Given the description of an element on the screen output the (x, y) to click on. 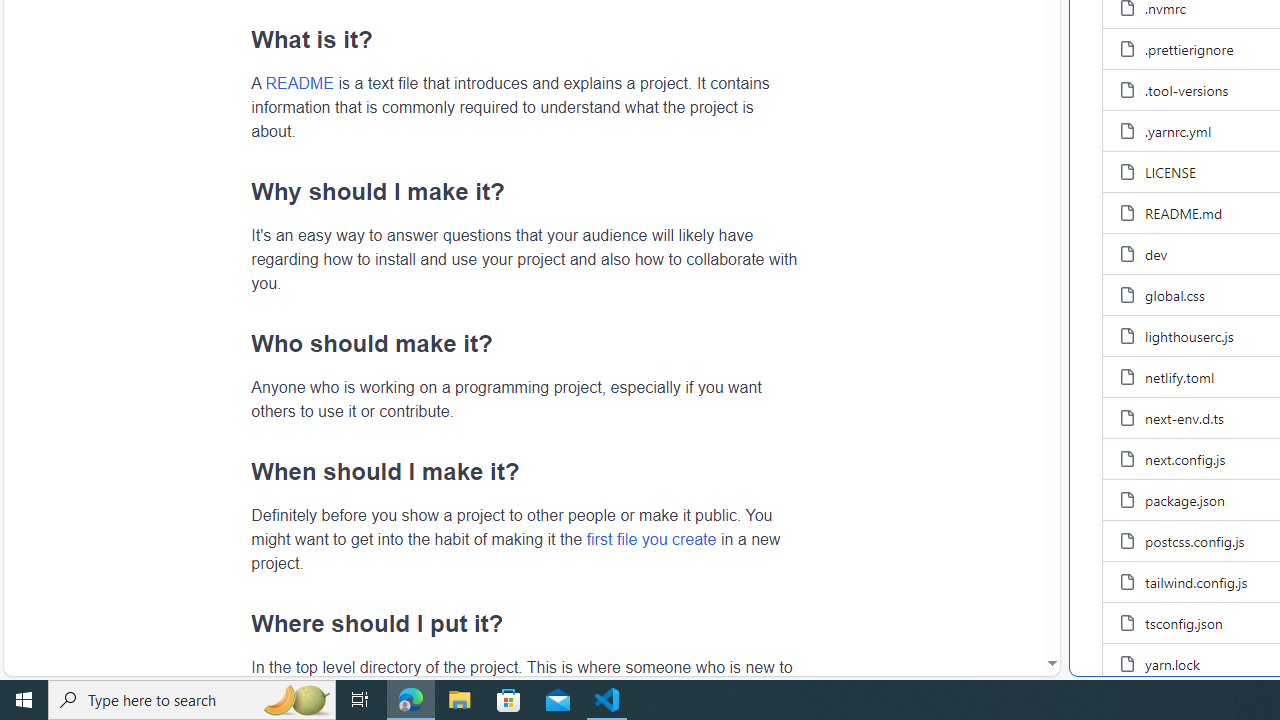
README (299, 83)
first file you create (651, 538)
lighthouserc.js, (File) (1189, 336)
.tool-versions, (File) (1186, 89)
